Given the description of an element on the screen output the (x, y) to click on. 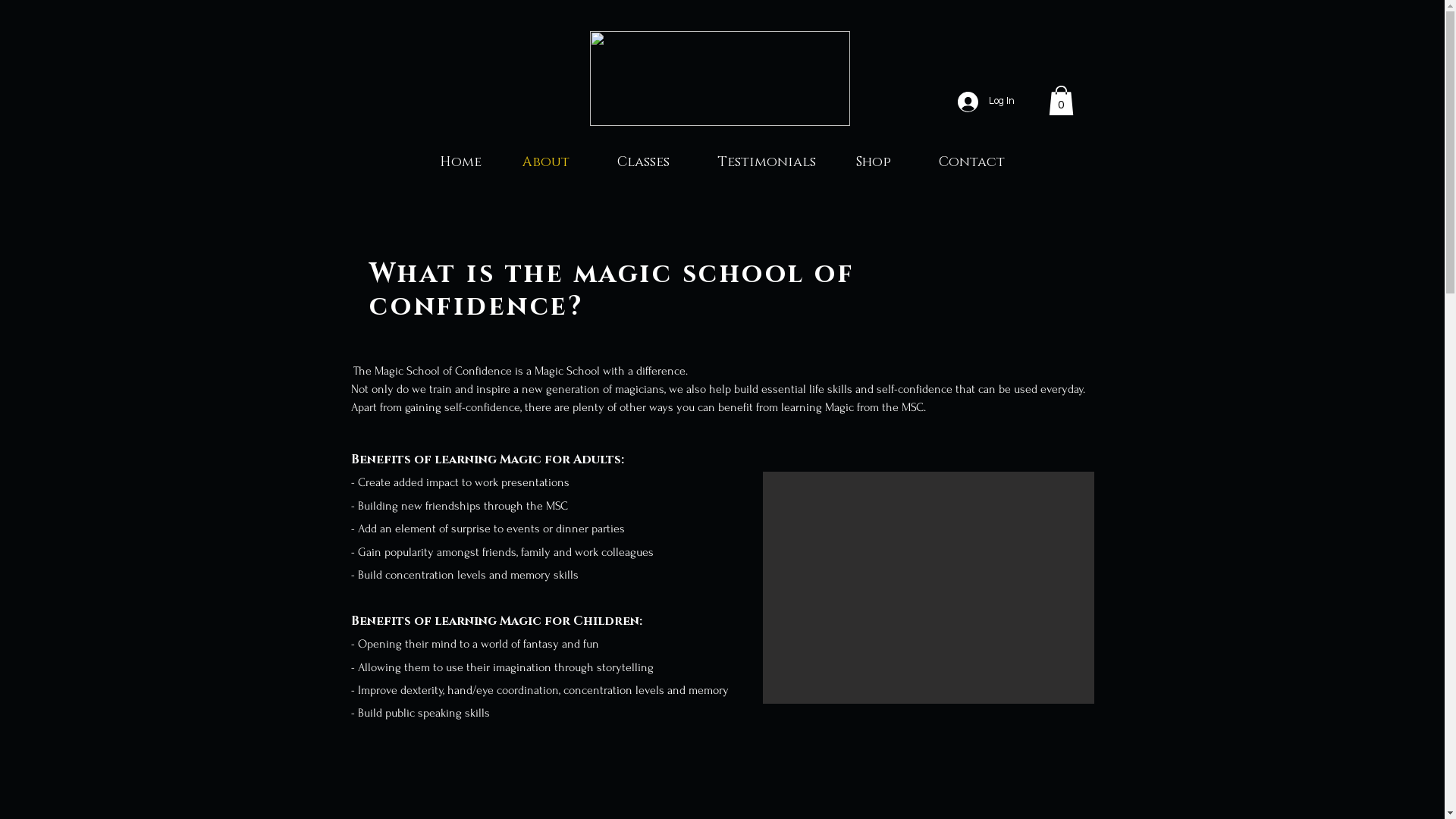
Testimonials Element type: text (766, 162)
Home Element type: text (459, 162)
Log In Element type: text (985, 101)
0 Element type: text (1060, 100)
Magic_School_of_Confidence_Logo_reversed.jpg Element type: hover (719, 78)
Contact Element type: text (972, 162)
